Given the description of an element on the screen output the (x, y) to click on. 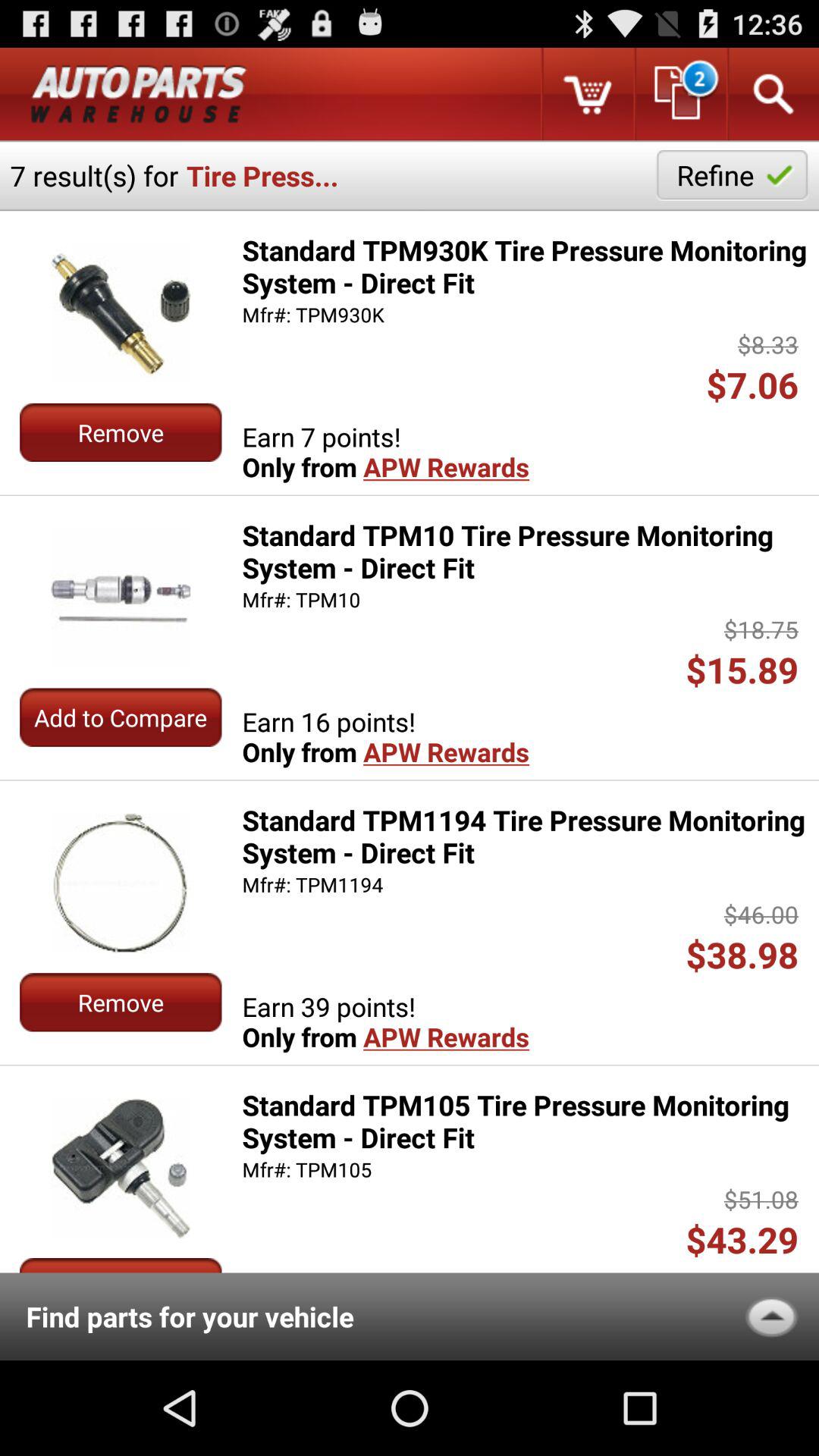
go to cart (586, 93)
